Given the description of an element on the screen output the (x, y) to click on. 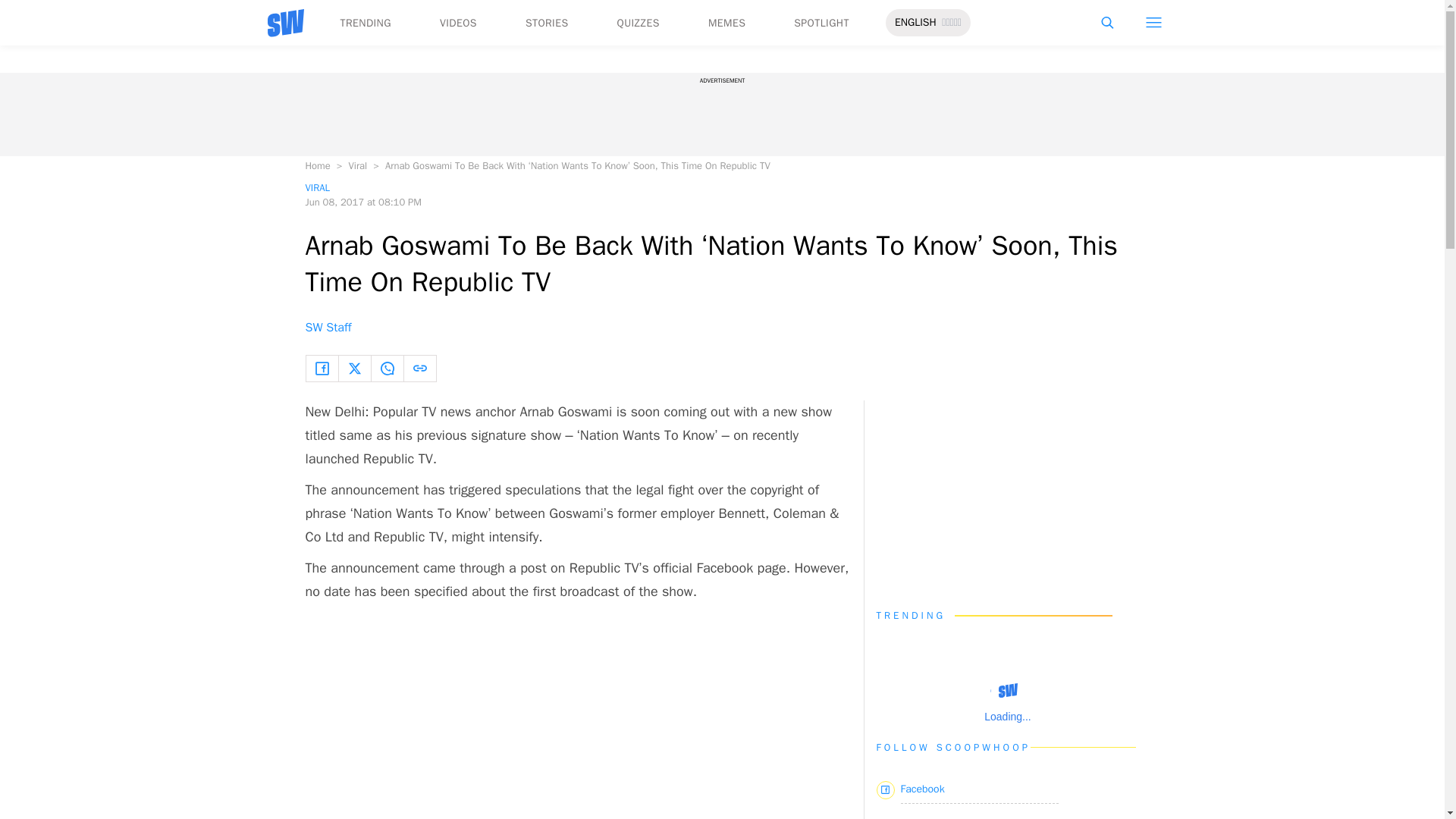
VIDEOS (458, 22)
MEMES (726, 22)
SPOTLIGHT (820, 22)
TRENDING (364, 22)
ENGLISH (915, 22)
QUIZZES (638, 22)
STORIES (547, 22)
